Given the description of an element on the screen output the (x, y) to click on. 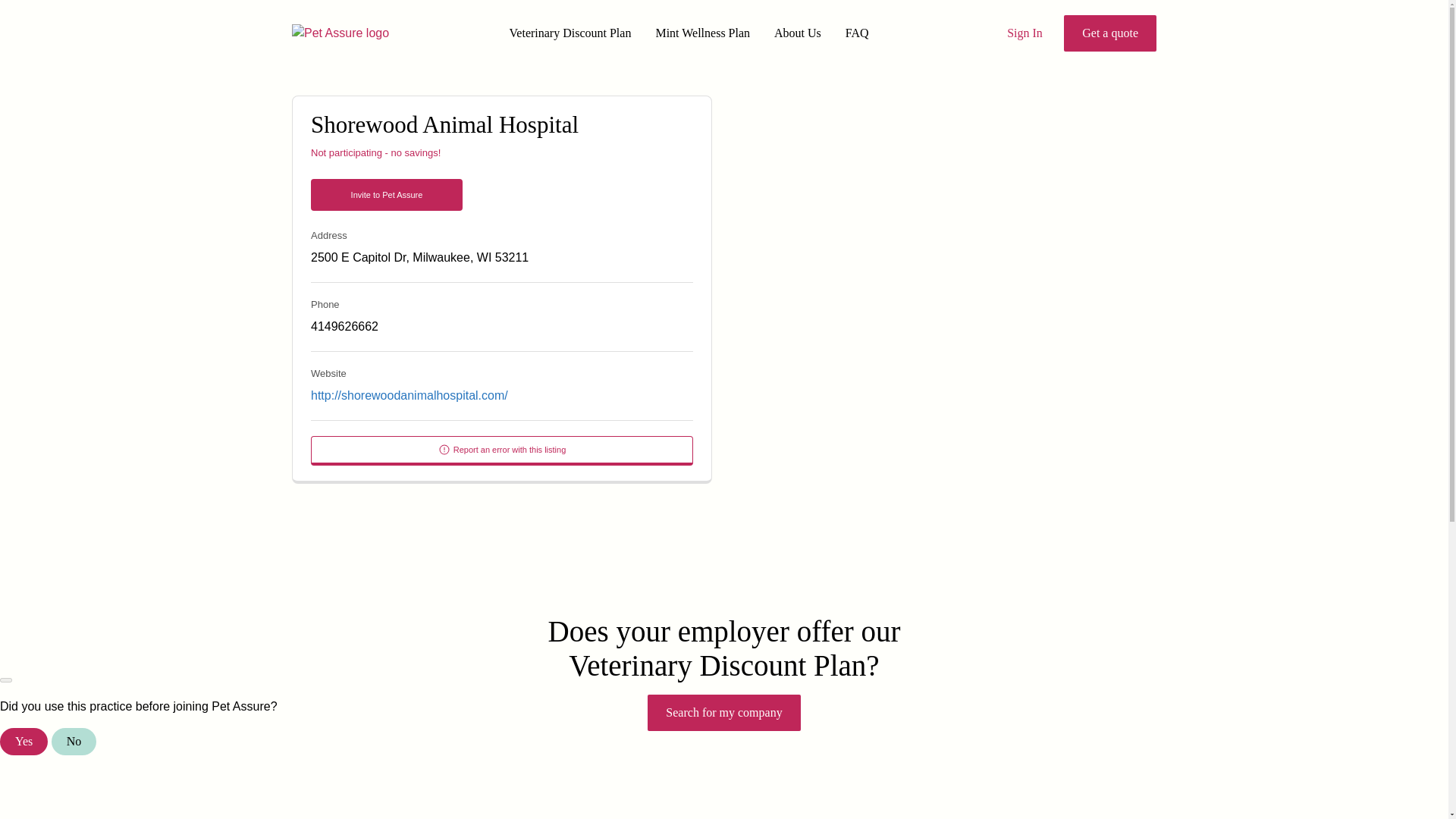
Yes (24, 741)
FAQ (857, 33)
Invite to Pet Assure (387, 194)
Report an error with this listing (502, 450)
Search for my company (723, 712)
Sign In (1024, 33)
Mint Wellness Plan (702, 33)
About Us (797, 33)
No (73, 741)
Veterinary Discount Plan (570, 33)
